Given the description of an element on the screen output the (x, y) to click on. 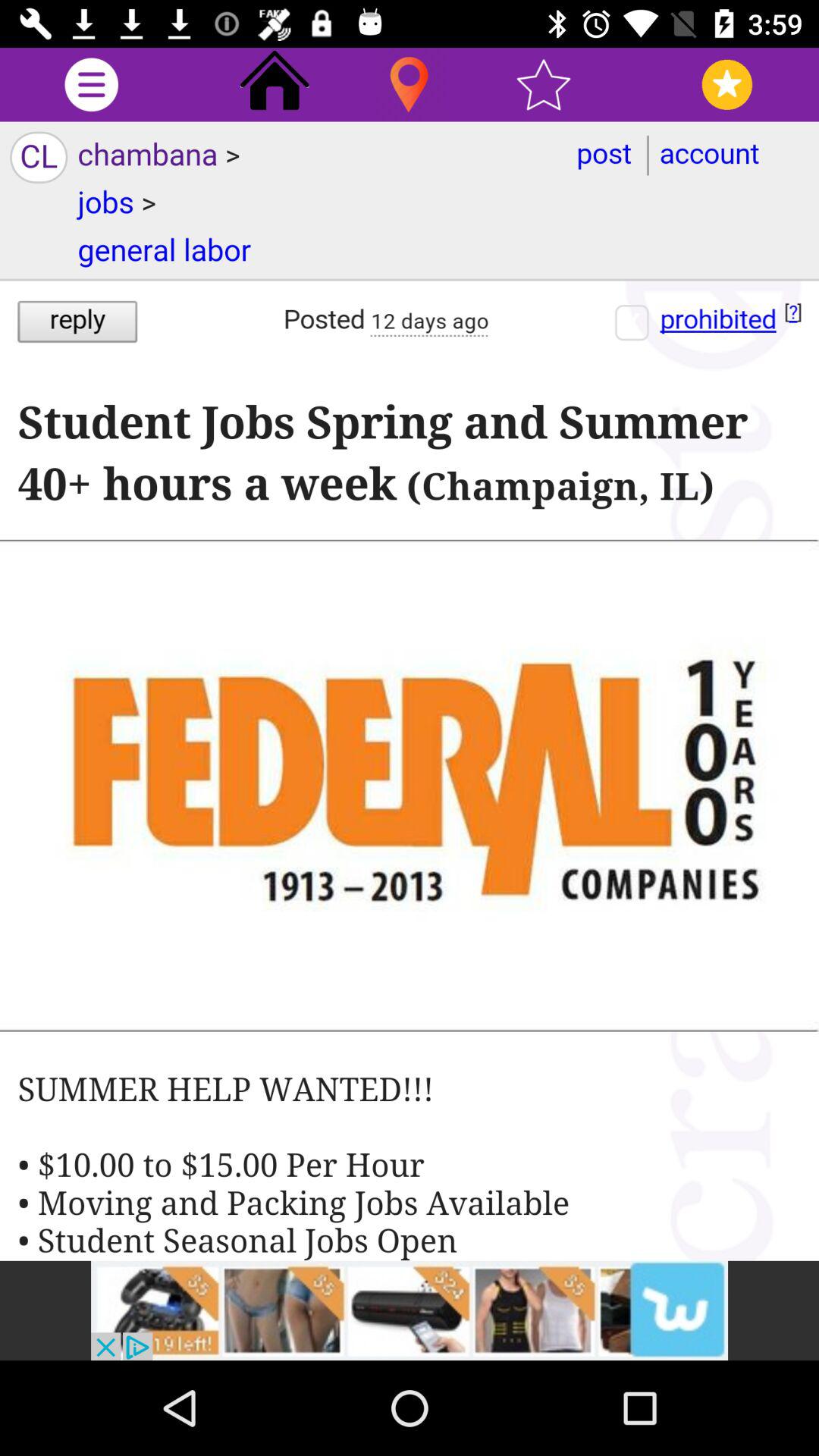
search (409, 84)
